Given the description of an element on the screen output the (x, y) to click on. 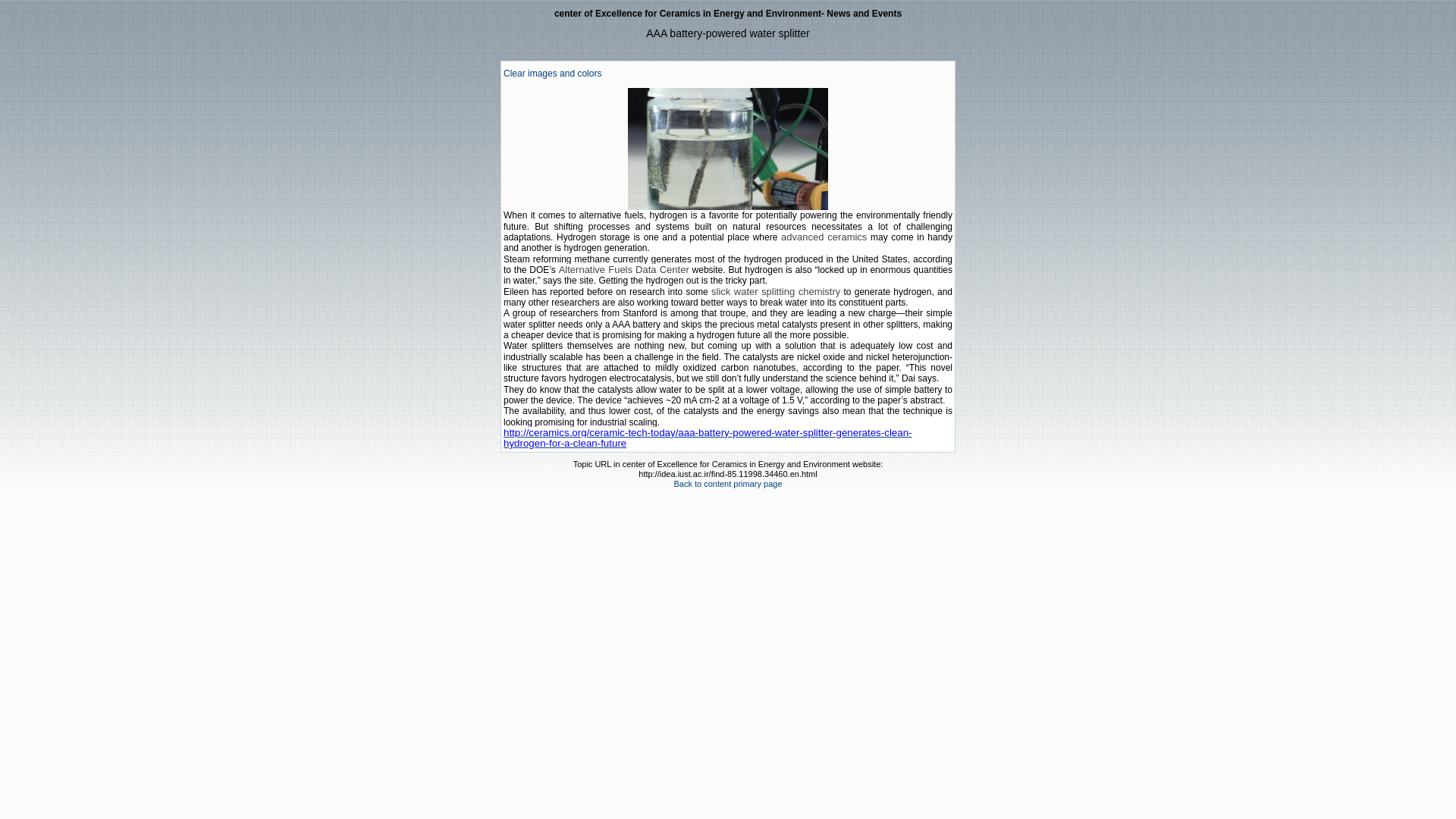
advanced ceramics (823, 236)
Clear images and colors (552, 72)
slick water splitting chemistry (775, 291)
Back to content primary page (726, 483)
Alternative Fuels Data Center (623, 269)
